Given the description of an element on the screen output the (x, y) to click on. 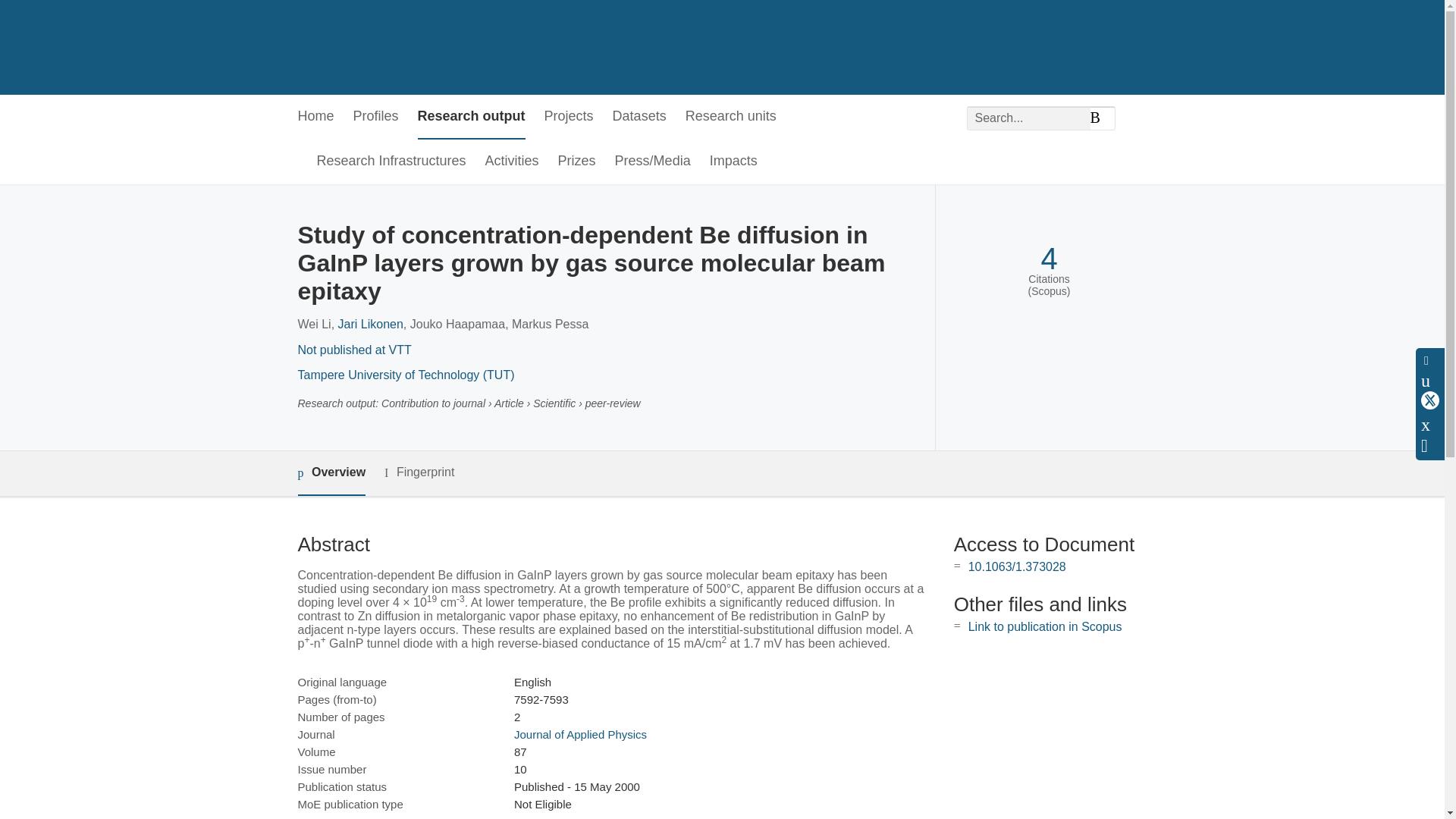
Projects (569, 117)
Research units (730, 117)
Overview (331, 473)
Journal of Applied Physics (579, 734)
Not published at VTT (353, 349)
Research Infrastructures (391, 161)
Profiles (375, 117)
Research output (471, 117)
Link to publication in Scopus (1045, 626)
Jari Likonen (370, 323)
